Given the description of an element on the screen output the (x, y) to click on. 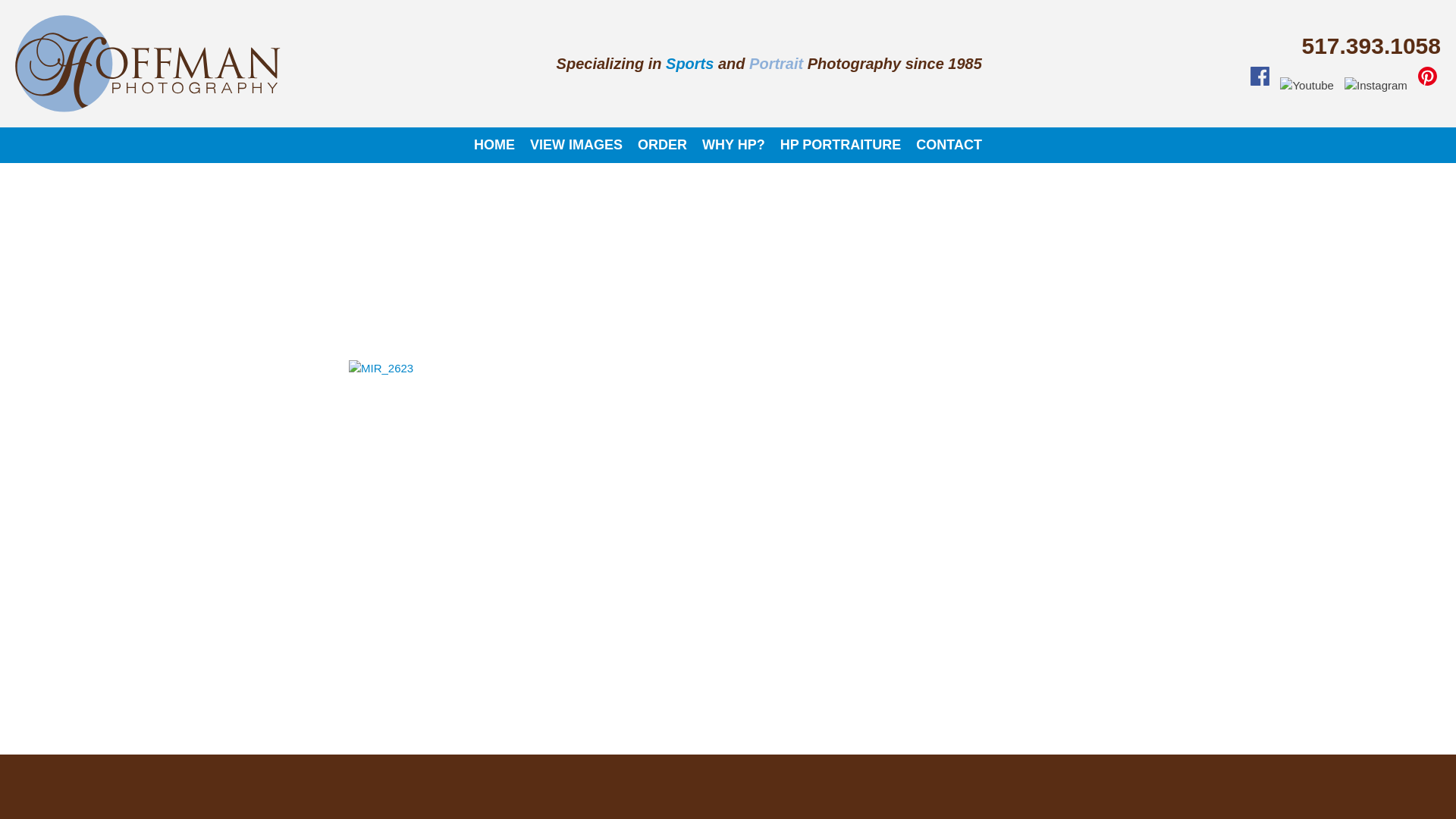
HP PORTRAITURE Element type: text (840, 144)
CONTACT Element type: text (949, 144)
ORDER Element type: text (662, 144)
Hoffman Photography Element type: text (362, 73)
Portrait Element type: text (776, 63)
517.393.1058 Element type: text (1370, 45)
VIEW IMAGES Element type: text (576, 144)
Sports Element type: text (689, 63)
WHY HP? Element type: text (733, 144)
HOME Element type: text (493, 144)
